Given the description of an element on the screen output the (x, y) to click on. 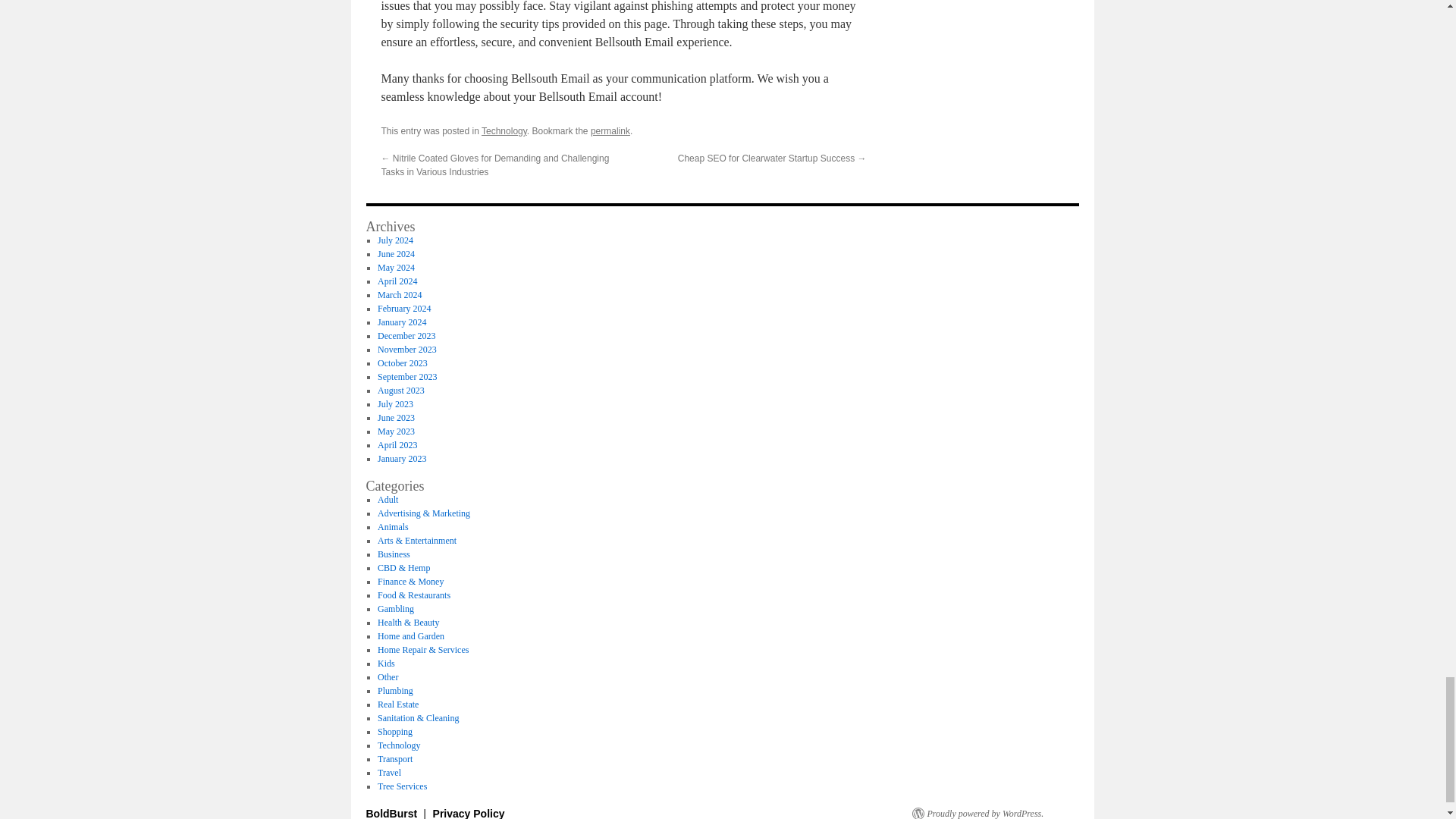
February 2024 (403, 308)
June 2024 (395, 253)
April 2023 (396, 444)
December 2023 (406, 335)
permalink (610, 131)
January 2024 (401, 321)
June 2023 (395, 417)
April 2024 (396, 281)
March 2024 (399, 294)
Adult (387, 499)
September 2023 (406, 376)
May 2023 (395, 430)
August 2023 (401, 389)
Permalink to Unlocking Your Inbox: Bellsouth Email Sign-In (610, 131)
November 2023 (406, 348)
